Given the description of an element on the screen output the (x, y) to click on. 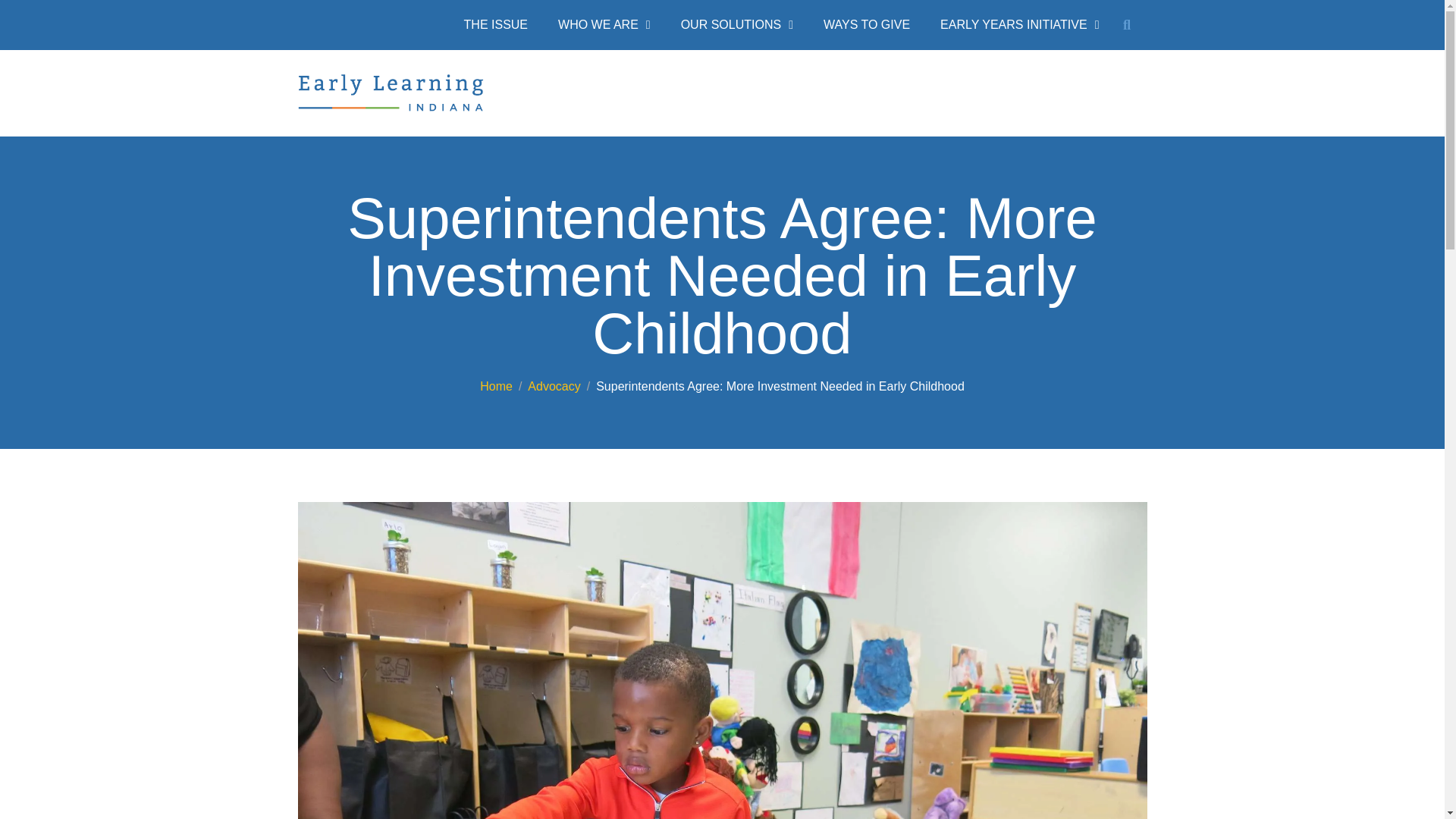
WAYS TO GIVE (866, 24)
THE ISSUE (495, 24)
OUR SOLUTIONS (736, 24)
WHO WE ARE (604, 24)
EARLY YEARS INITIATIVE (1018, 24)
